Given the description of an element on the screen output the (x, y) to click on. 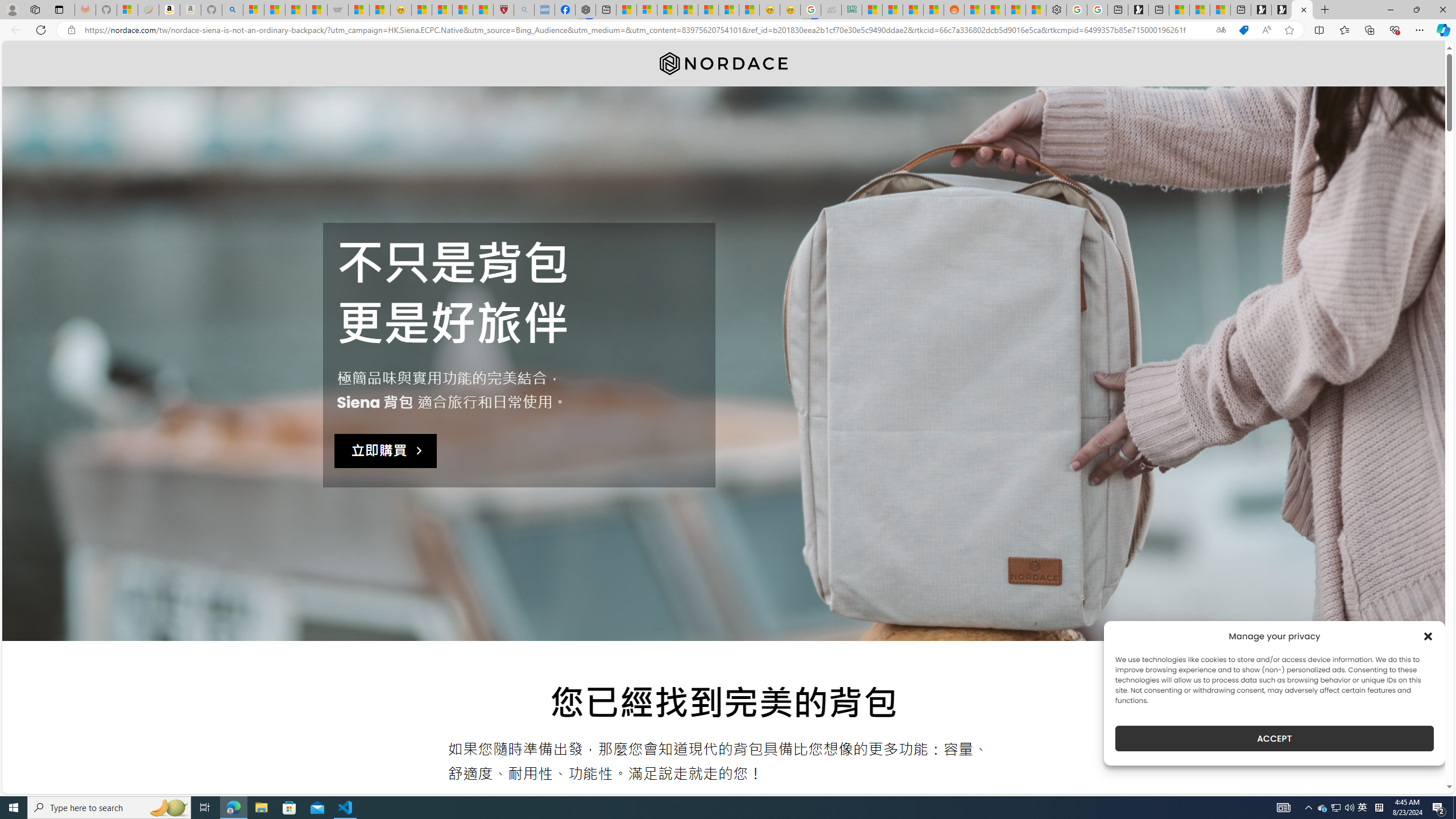
ACCEPT (1274, 738)
